Given the description of an element on the screen output the (x, y) to click on. 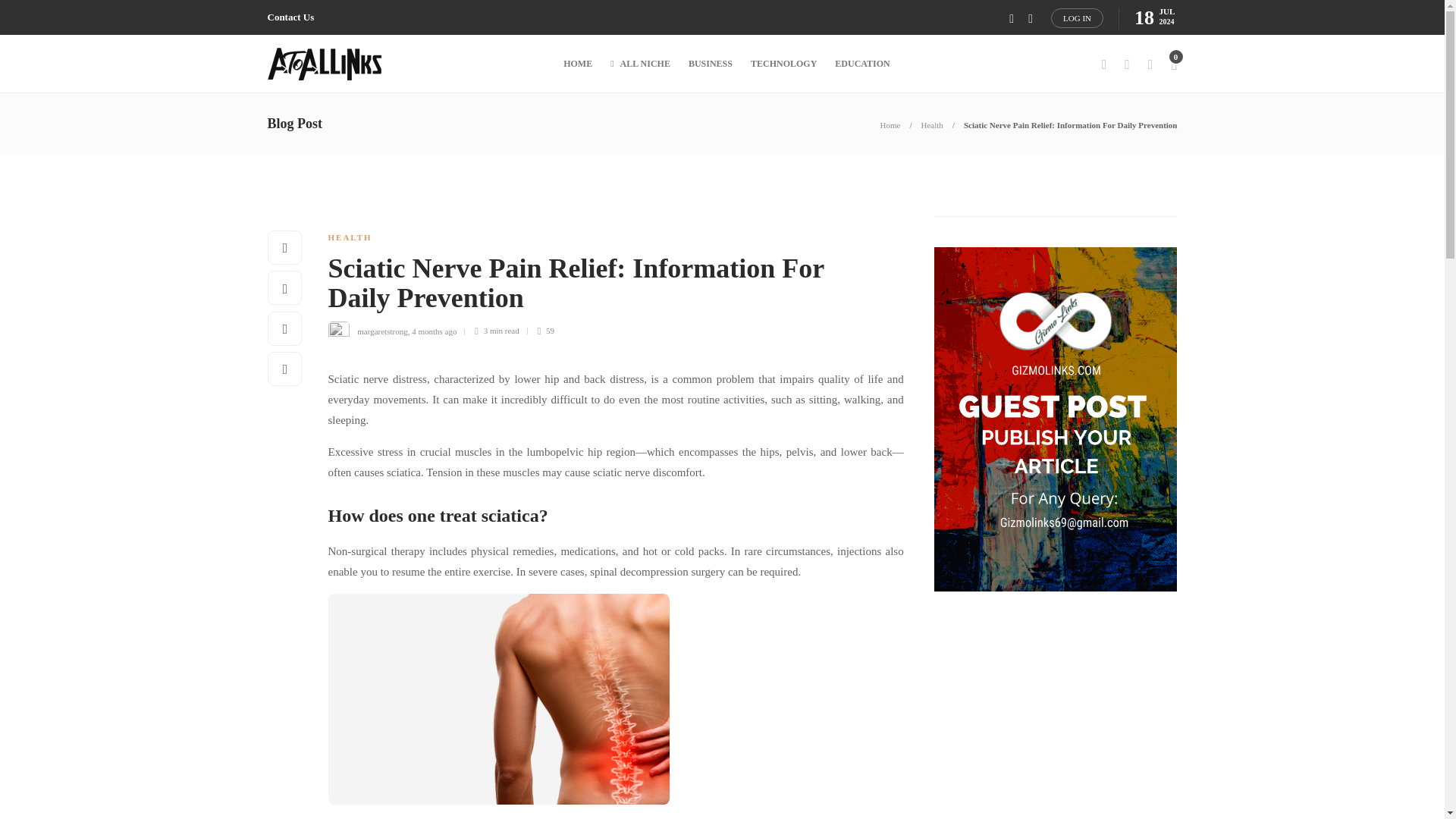
margaretstrong (381, 329)
LOG IN (1077, 17)
ALL NICHE (639, 63)
4 months ago (434, 329)
Home (890, 124)
Home (890, 124)
Sciatic Nerve Pain Relief: Information For Daily Prevention (1070, 124)
TECHNOLOGY (783, 63)
EDUCATION (861, 63)
HEALTH (349, 236)
Health (932, 124)
Contact Us (290, 17)
Sciatic Nerve Pain Relief: Information For Daily Prevention  (603, 287)
